Given the description of an element on the screen output the (x, y) to click on. 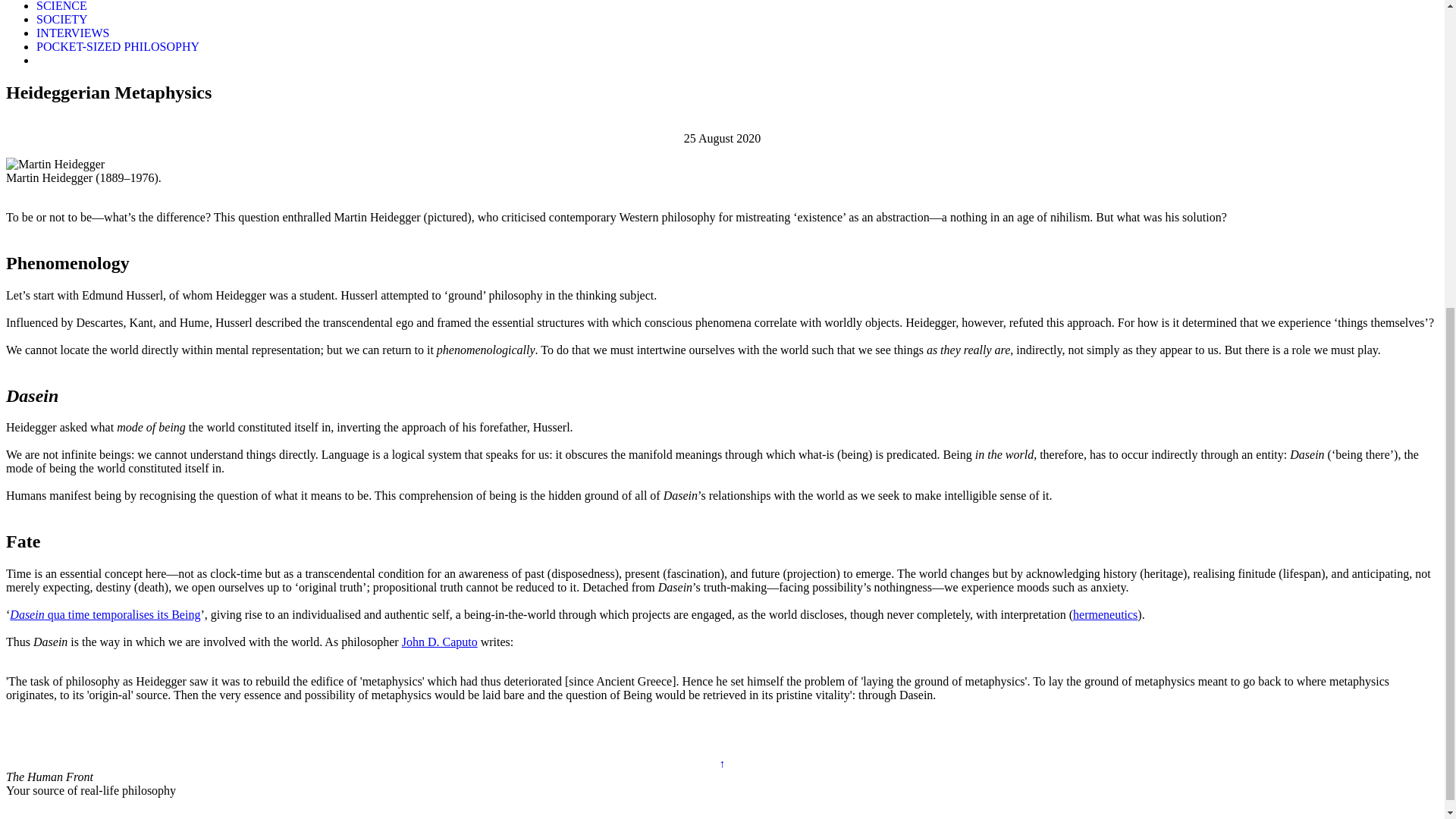
Dasein qua time temporalises its Being (105, 614)
SOCIETY (61, 19)
hermeneutics (1105, 614)
INTERVIEWS (72, 32)
POCKET-SIZED PHILOSOPHY (117, 46)
SCIENCE (61, 6)
John D. Caputo (439, 641)
